Given the description of an element on the screen output the (x, y) to click on. 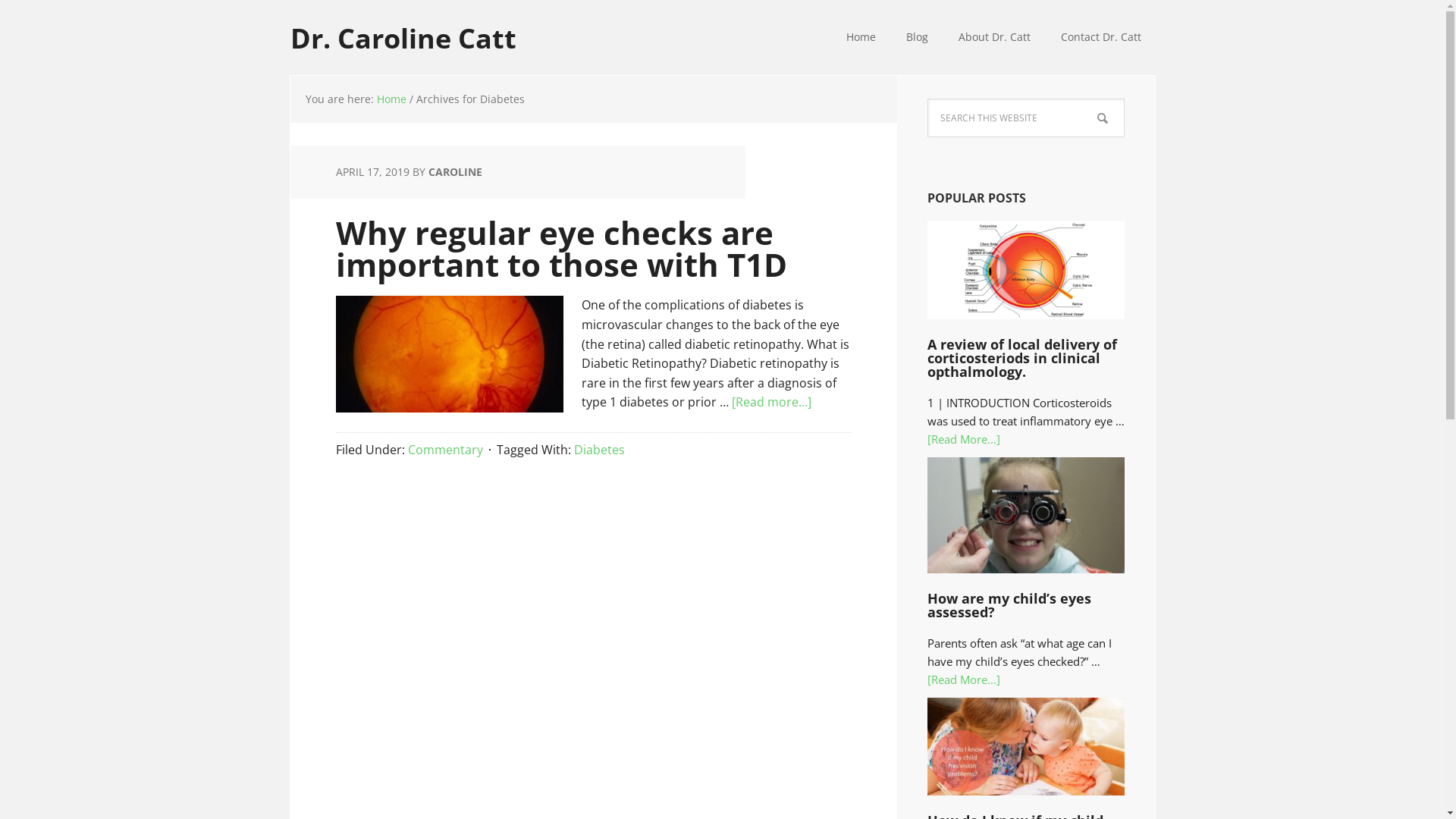
Contact Dr. Catt Element type: text (1100, 37)
Search Element type: text (1123, 97)
[Read more...] Element type: text (770, 401)
Why regular eye checks are important to those with T1D Element type: text (560, 247)
[Read More...] Element type: text (962, 679)
Home Element type: text (860, 37)
Home Element type: text (390, 98)
[Read More...] Element type: text (962, 438)
Dr. Caroline Catt Element type: text (410, 27)
Commentary Element type: text (445, 449)
Blog Element type: text (916, 37)
CAROLINE Element type: text (454, 171)
About Dr. Catt Element type: text (994, 37)
Diabetes Element type: text (598, 449)
